Given the description of an element on the screen output the (x, y) to click on. 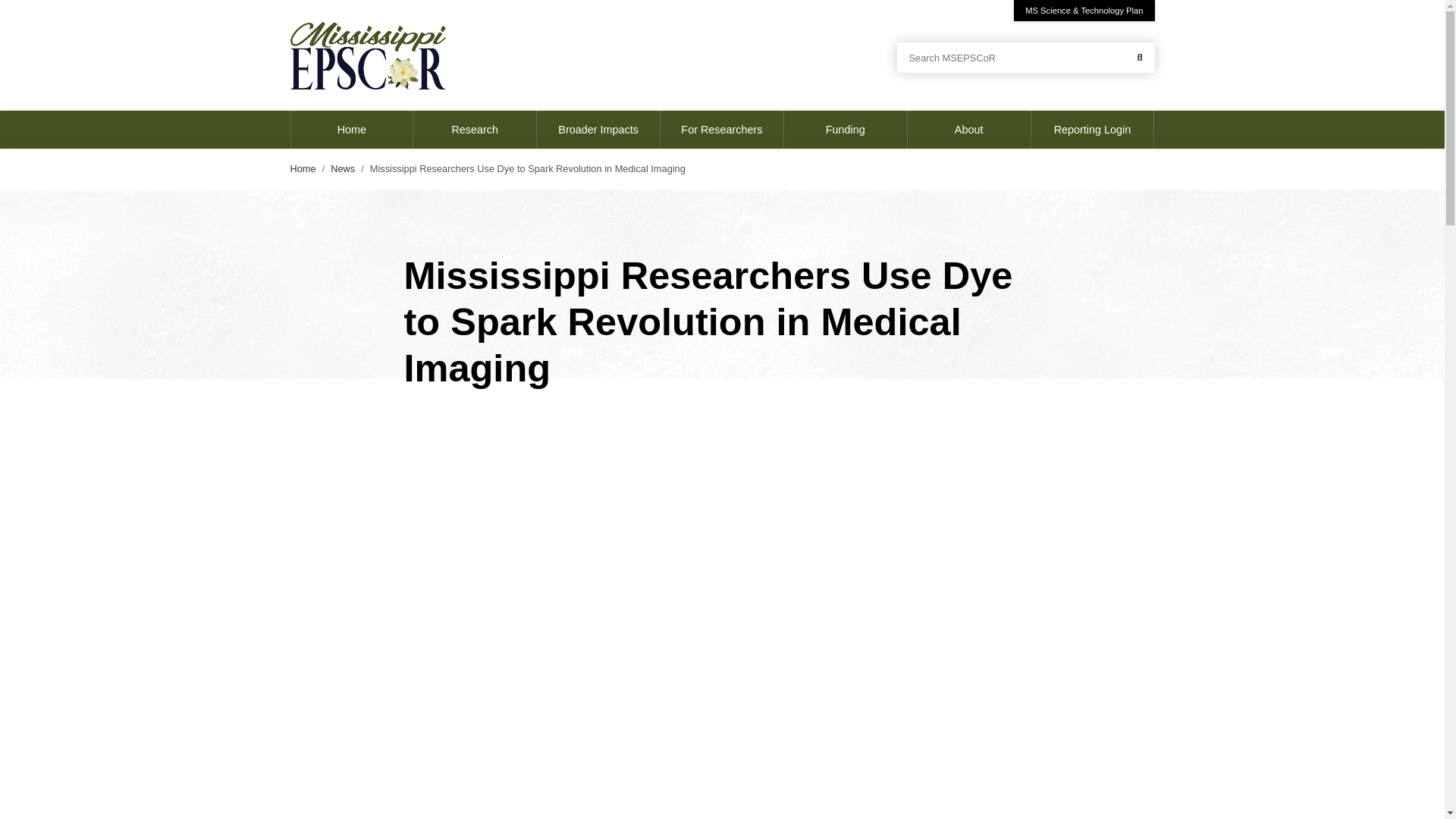
Funding (845, 129)
Search (1139, 57)
For Researchers (722, 129)
About (968, 129)
Home (351, 129)
Search (1139, 57)
Broader Impacts (599, 129)
Research (475, 129)
